Given the description of an element on the screen output the (x, y) to click on. 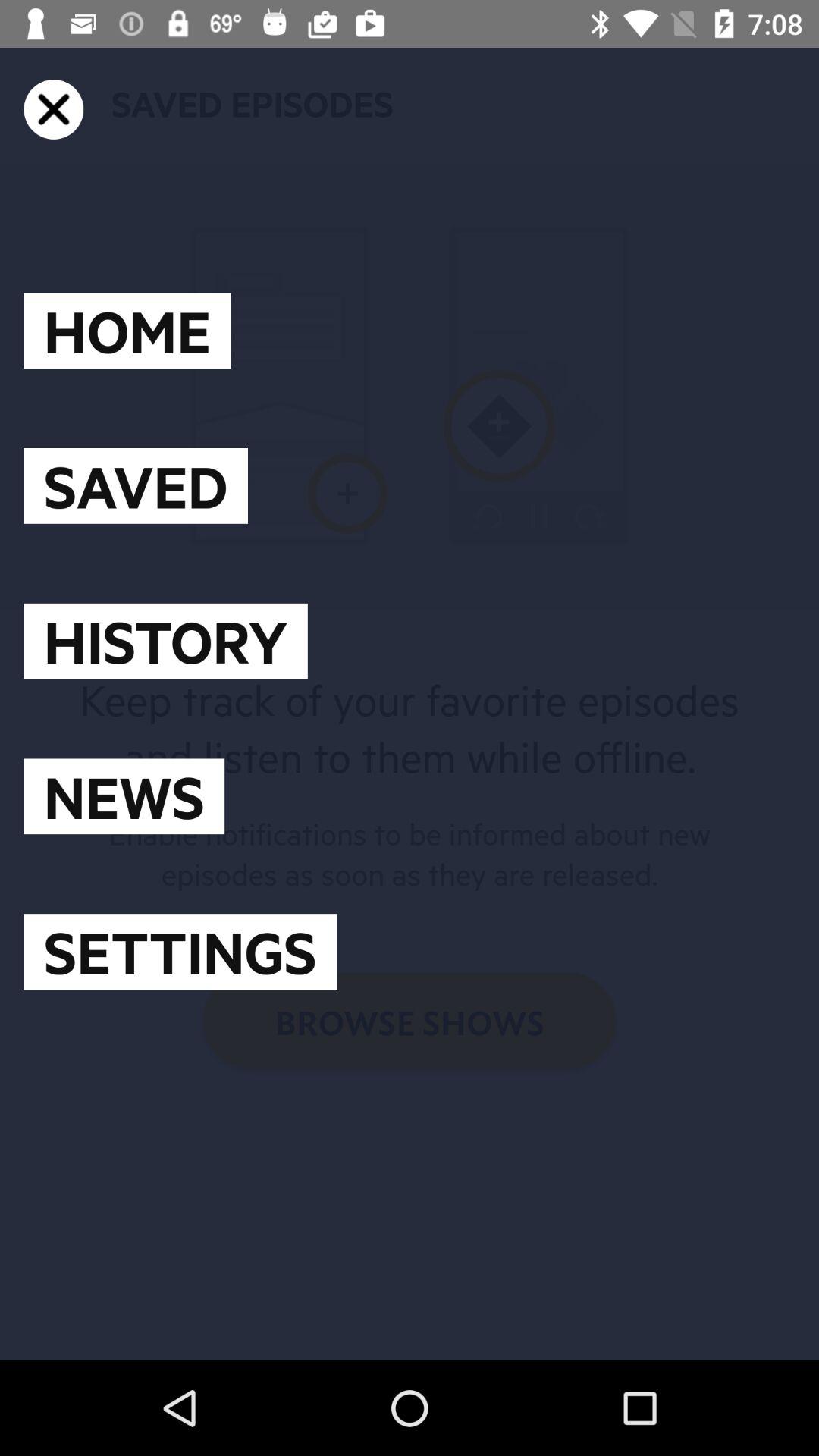
turn on the saved icon (135, 485)
